Given the description of an element on the screen output the (x, y) to click on. 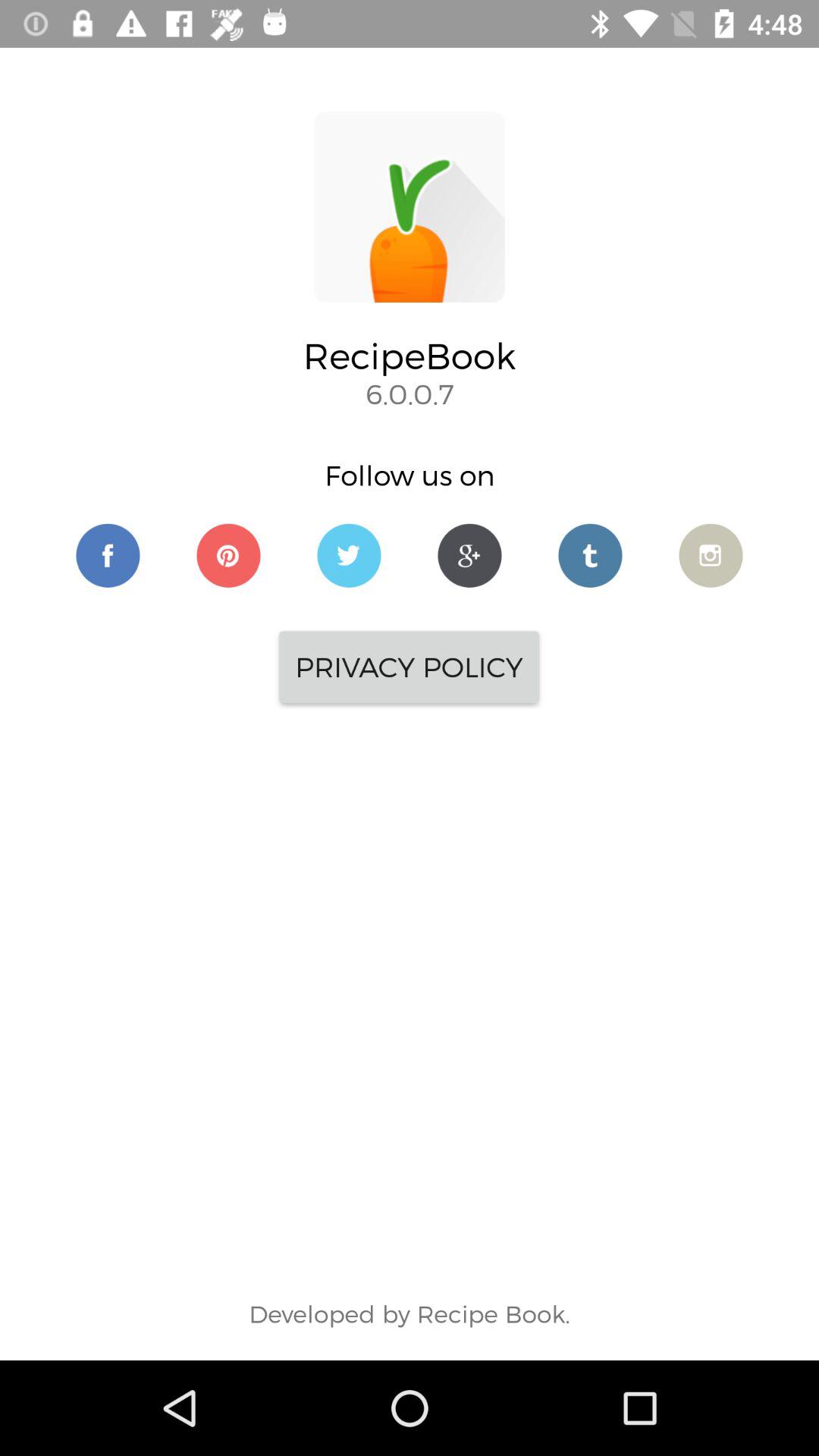
follow on pinterest (228, 555)
